Given the description of an element on the screen output the (x, y) to click on. 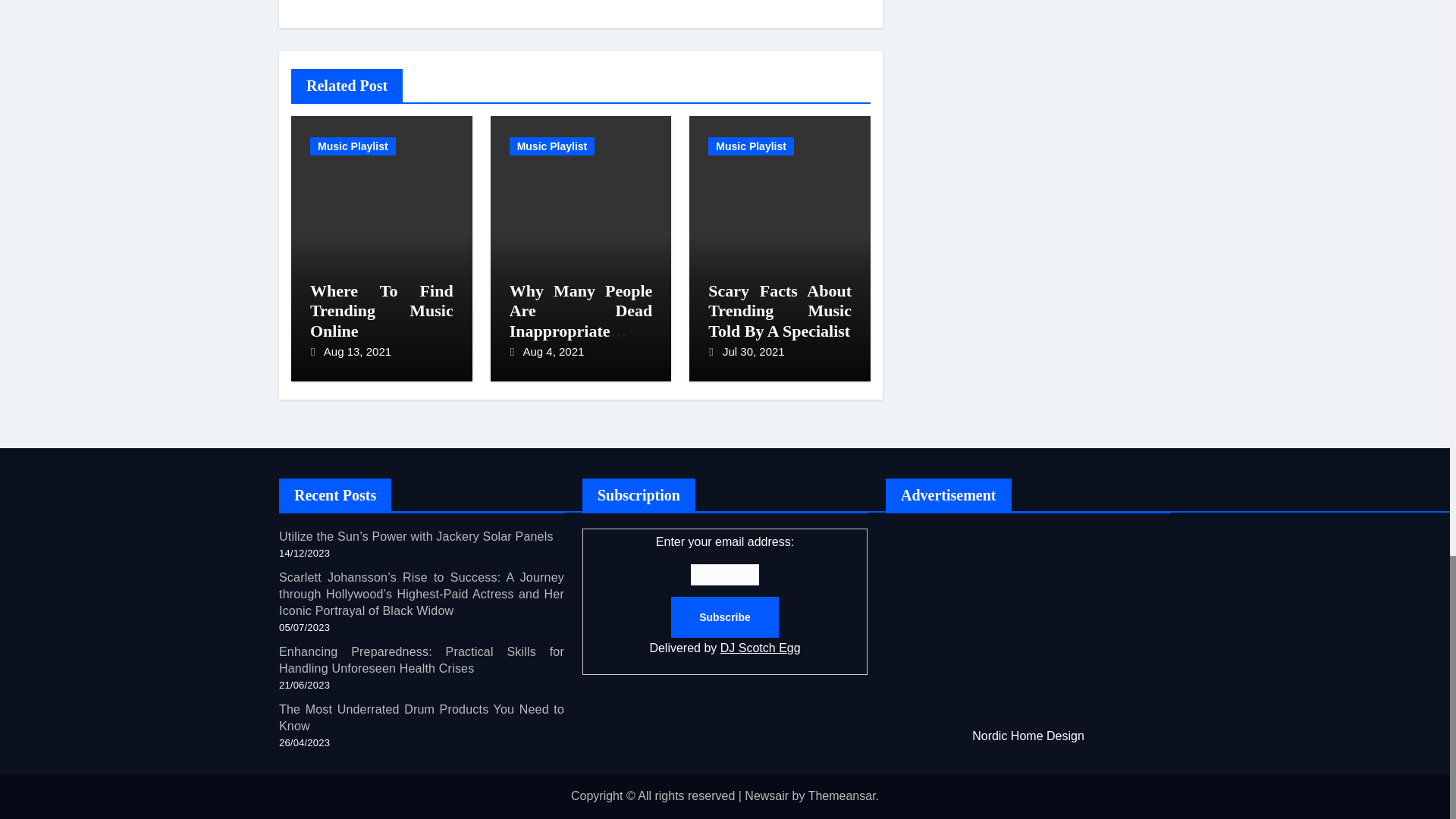
Subscribe (724, 617)
Permalink to: Where To Find Trending Music Online (381, 310)
